Given the description of an element on the screen output the (x, y) to click on. 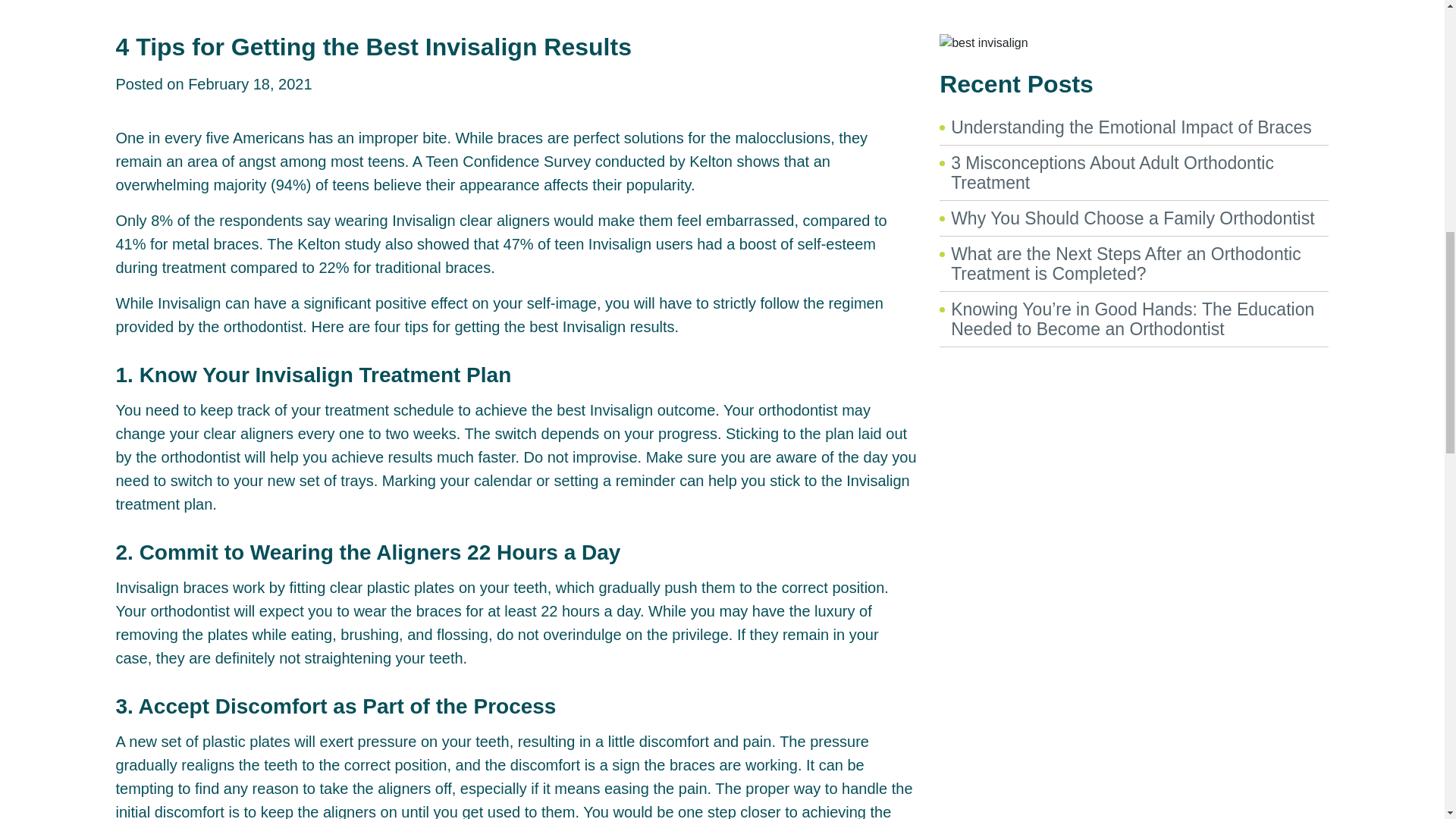
Why You Should Choose a Family Orthodontist (1132, 218)
Understanding the Emotional Impact of Braces (1130, 127)
3 Misconceptions About Adult Orthodontic Treatment (1112, 172)
